Given the description of an element on the screen output the (x, y) to click on. 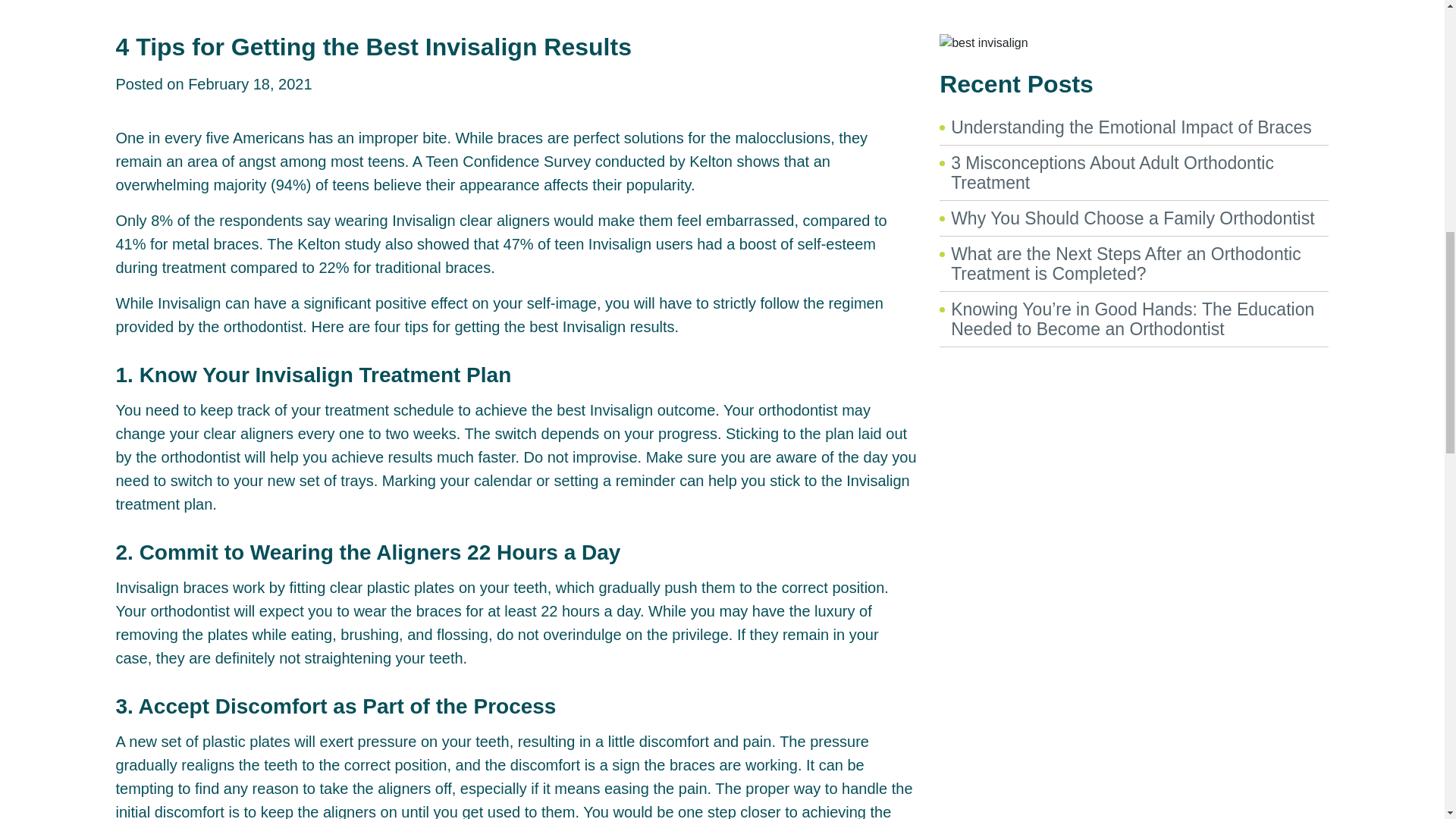
Why You Should Choose a Family Orthodontist (1132, 218)
Understanding the Emotional Impact of Braces (1130, 127)
3 Misconceptions About Adult Orthodontic Treatment (1112, 172)
